Given the description of an element on the screen output the (x, y) to click on. 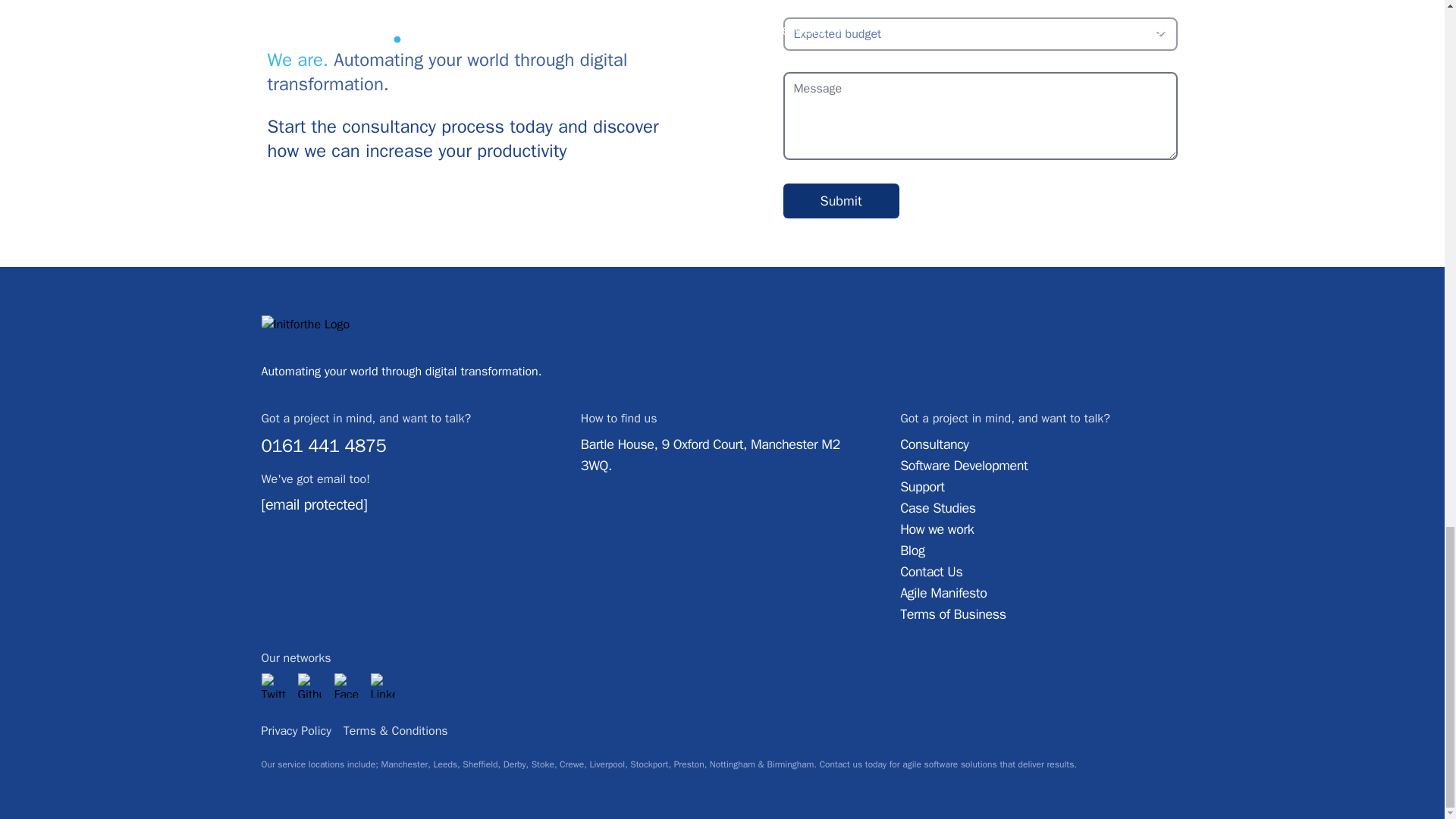
0161 441 4875 (322, 445)
Agile Manifesto (1040, 592)
Leeds (444, 764)
Privacy Policy (295, 730)
Stockport (649, 764)
Derby (514, 764)
Terms of Business (1040, 613)
How we work (1040, 528)
Preston (689, 764)
Bartle House, 9 Oxford Court, Manchester M2 3WQ. (710, 454)
Consultancy (1040, 444)
Sheffield (480, 764)
Crewe (571, 764)
Support (1040, 486)
Liverpool (606, 764)
